Given the description of an element on the screen output the (x, y) to click on. 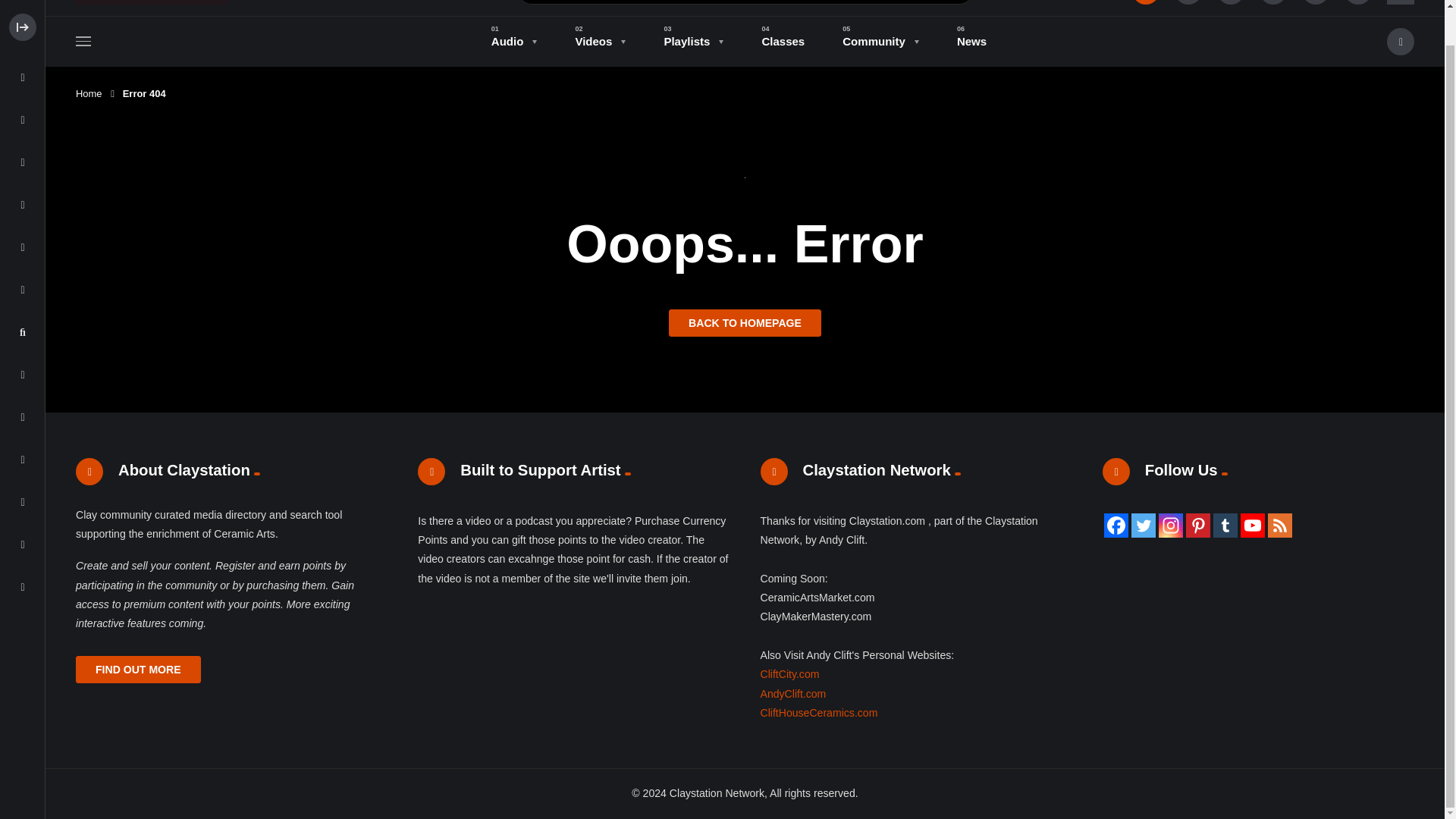
RSS feed (1280, 525)
0 (1315, 2)
Youtube Channel (1252, 525)
Audio (514, 41)
Pinterest (1197, 525)
Twitter (1143, 525)
Instagram (1170, 525)
Claystation (151, 2)
Tumblr (1224, 525)
Facebook (1115, 525)
